Given the description of an element on the screen output the (x, y) to click on. 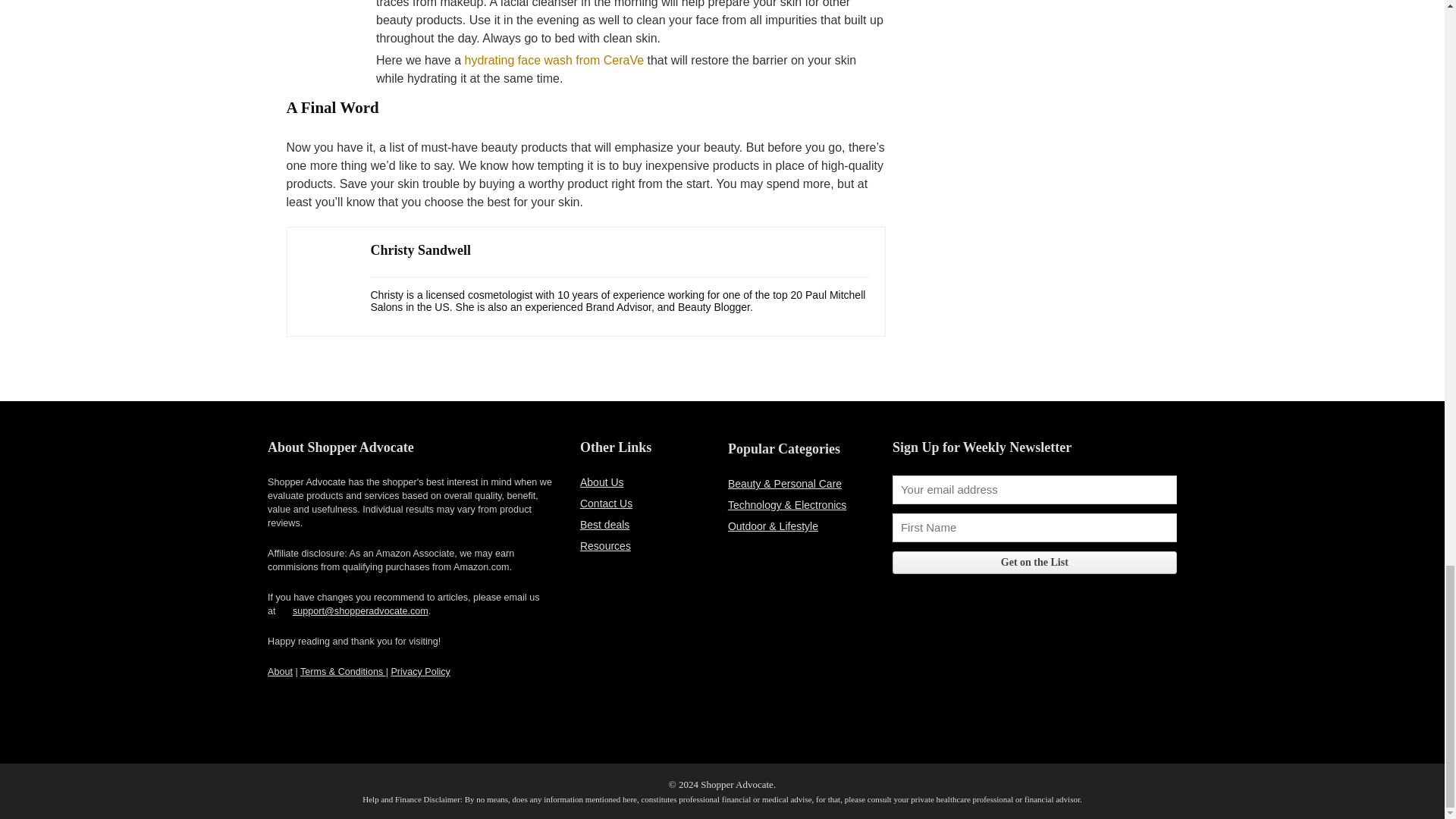
Get on the List (1034, 562)
hydrating face wash from CeraVe (554, 60)
Christy Sandwell (419, 249)
Posts by Christy Sandwell (419, 249)
